Given the description of an element on the screen output the (x, y) to click on. 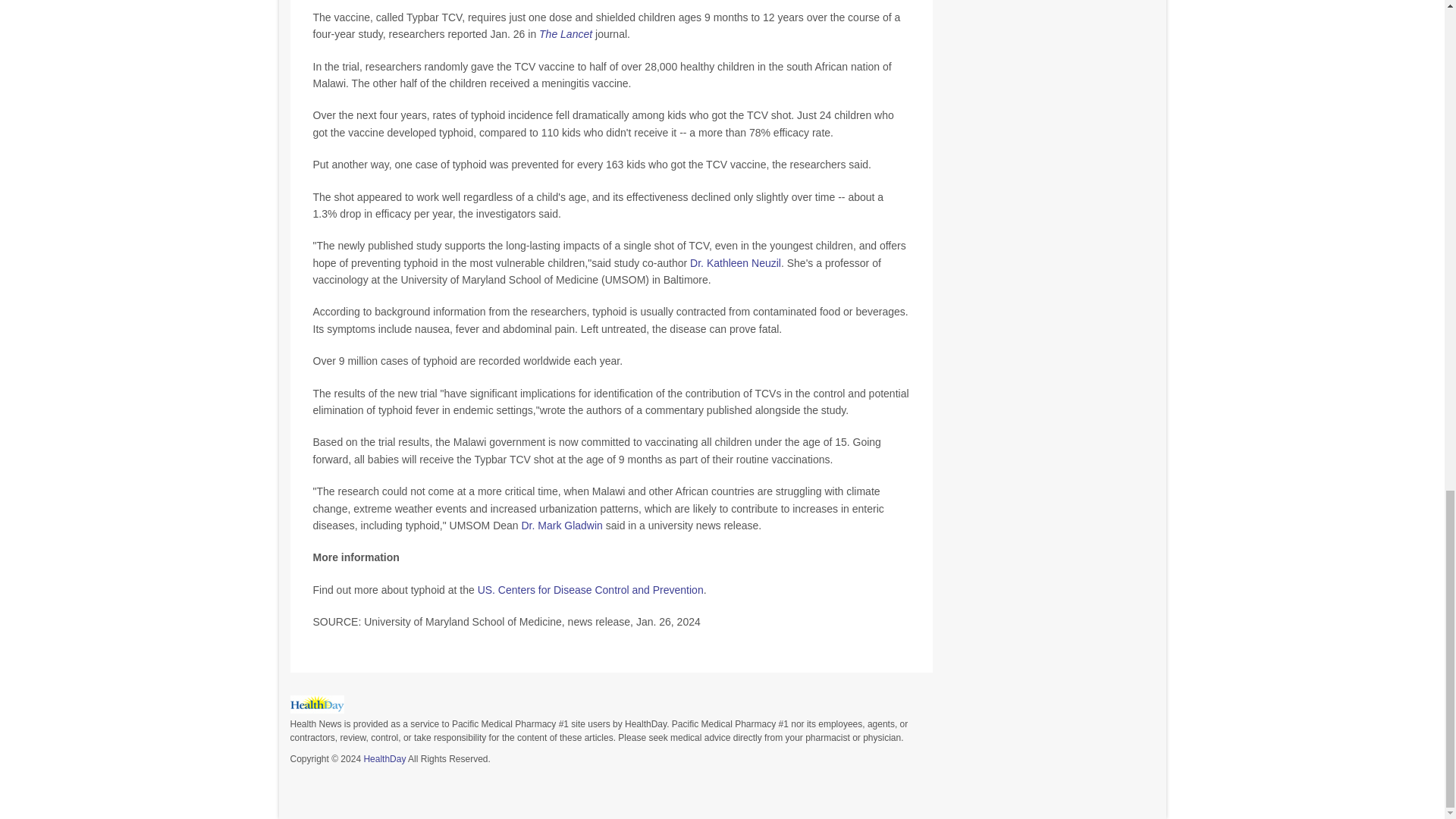
Dr. Mark Gladwin (561, 525)
Dr. Kathleen Neuzil (735, 263)
The Lancet (565, 33)
